Given the description of an element on the screen output the (x, y) to click on. 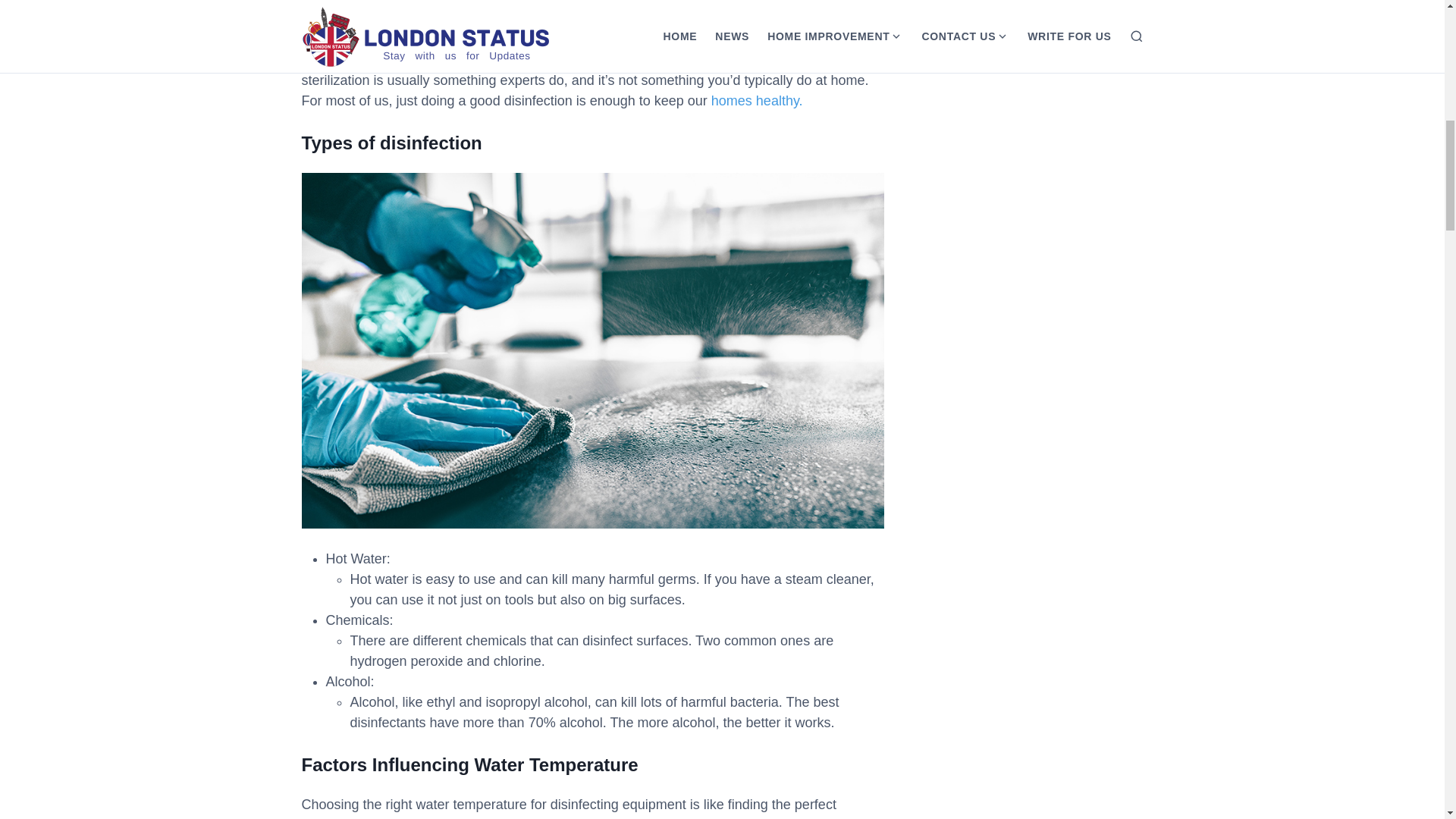
homes healthy. (757, 100)
